Given the description of an element on the screen output the (x, y) to click on. 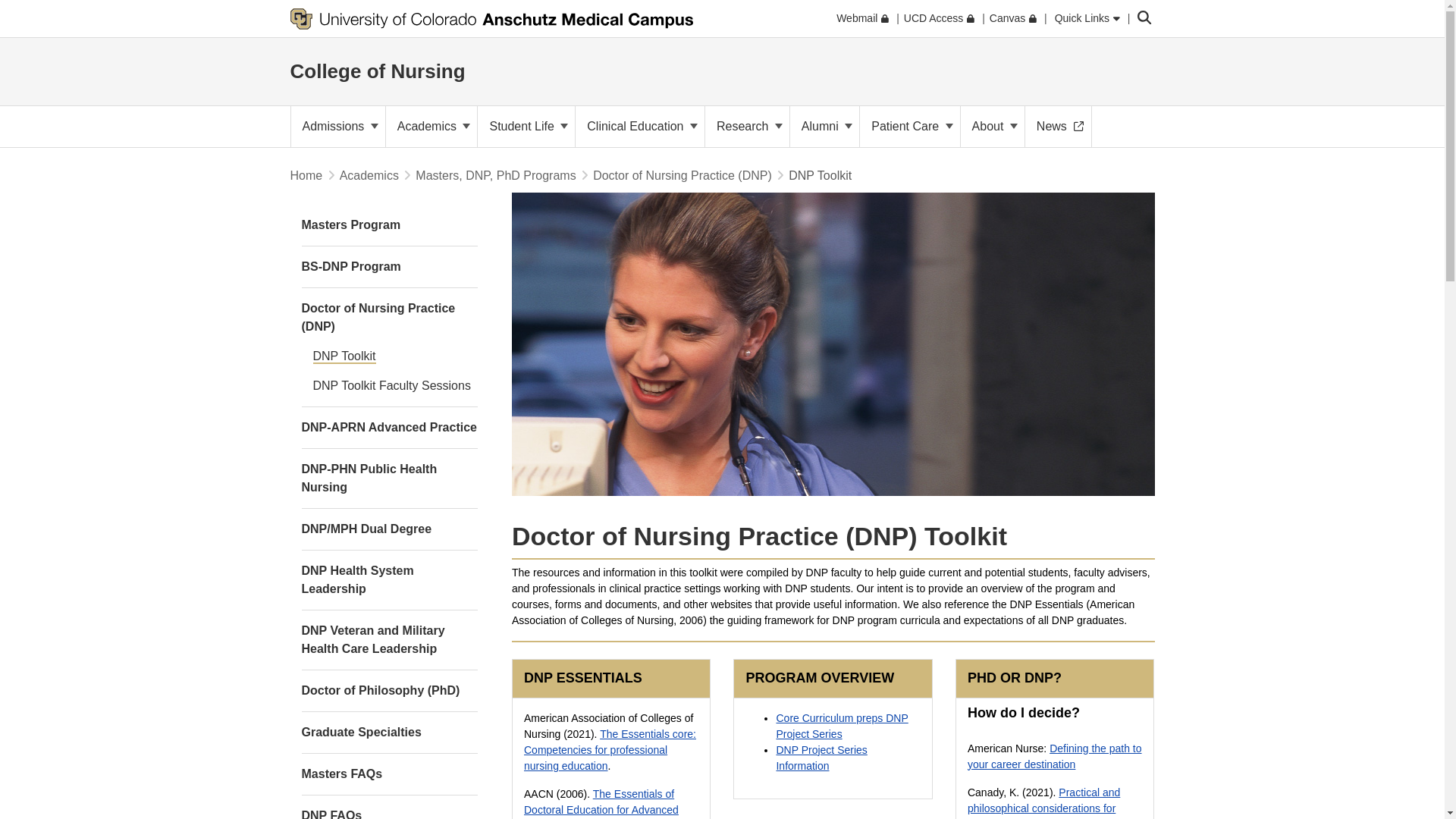
DNP Project Series Information (821, 757)
Admissions (338, 126)
College of Nursing (376, 70)
Quick Links (1086, 18)
Webmail (861, 18)
UCD Access (939, 18)
Canvas (1013, 18)
Core Curriculum preps DNP Project Series (841, 725)
